Given the description of an element on the screen output the (x, y) to click on. 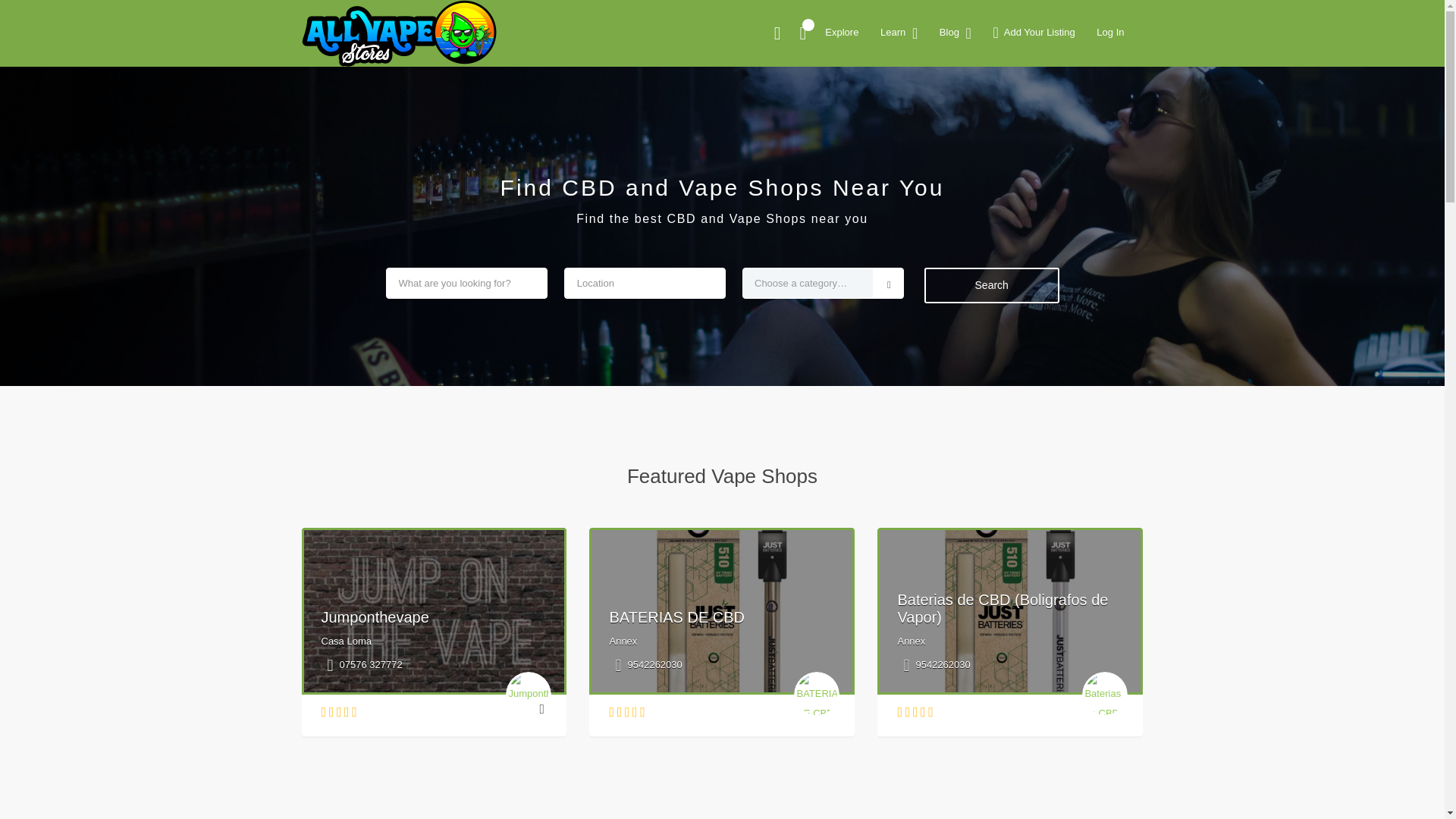
Log in (980, 588)
Latest Article (996, 172)
DMCA Policy (996, 282)
Search (1050, 85)
Contact Us (991, 258)
ADMINISTRATOR (417, 118)
September 2020 (1005, 432)
Search (1050, 85)
Search for: (1049, 47)
Disclaimer (990, 354)
Privacy Policy (999, 306)
ONEDAY247.COM (385, 28)
Skip to content (34, 9)
Blog (976, 510)
Search (1050, 85)
